Given the description of an element on the screen output the (x, y) to click on. 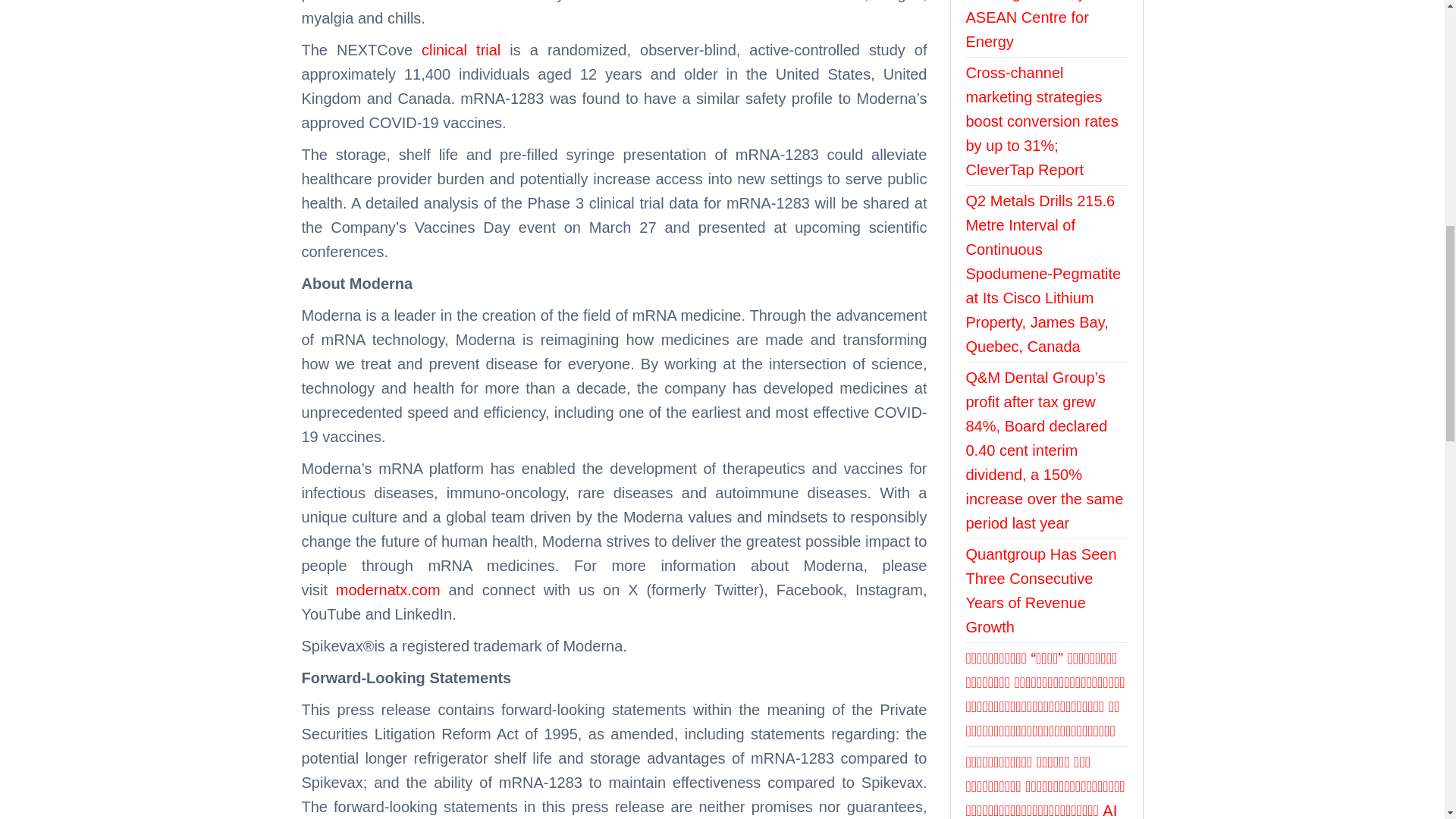
modernatx.com (388, 589)
clinical trial (461, 49)
